Given the description of an element on the screen output the (x, y) to click on. 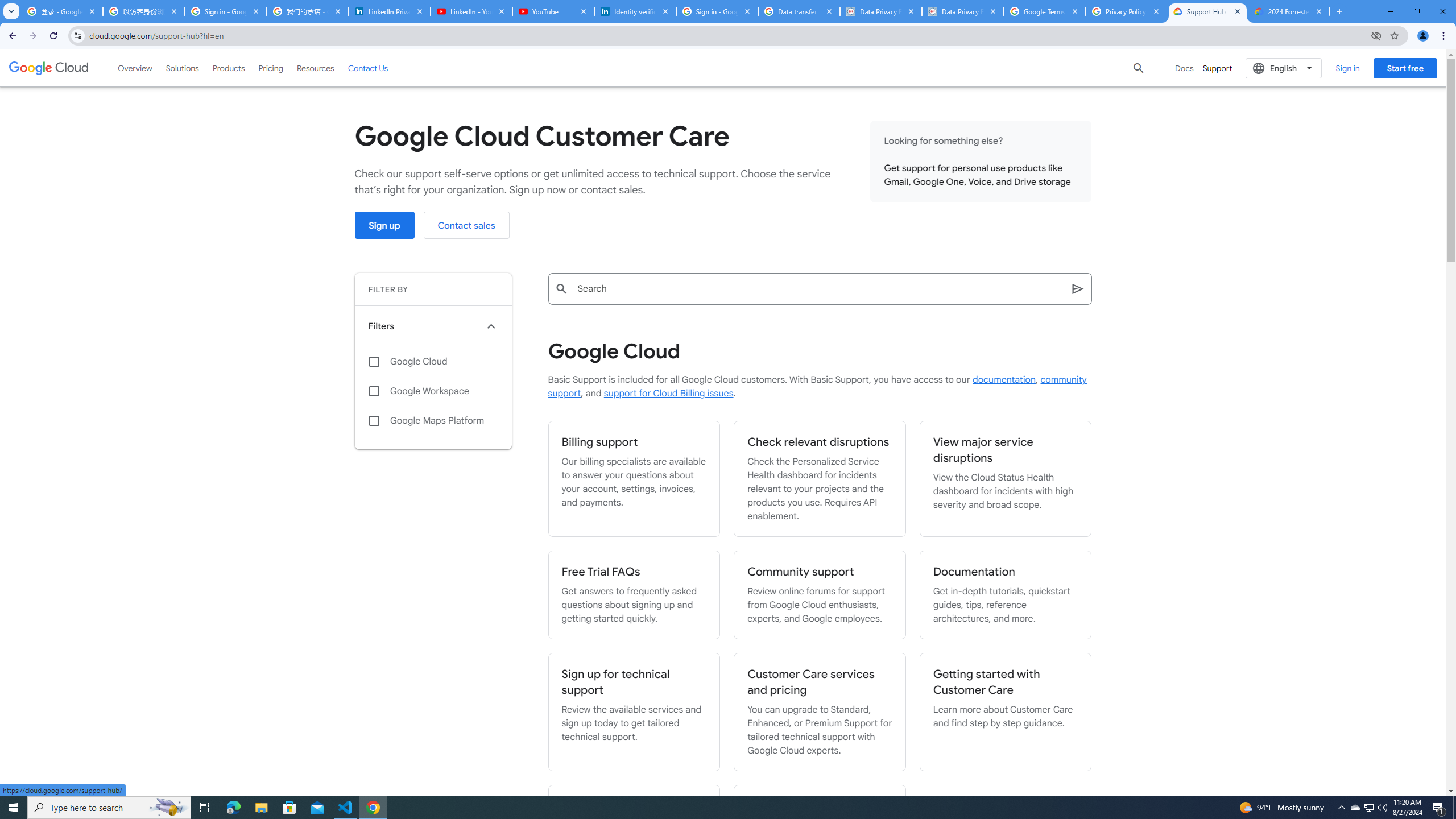
community support (816, 386)
Resources (314, 67)
YouTube (552, 11)
